Given the description of an element on the screen output the (x, y) to click on. 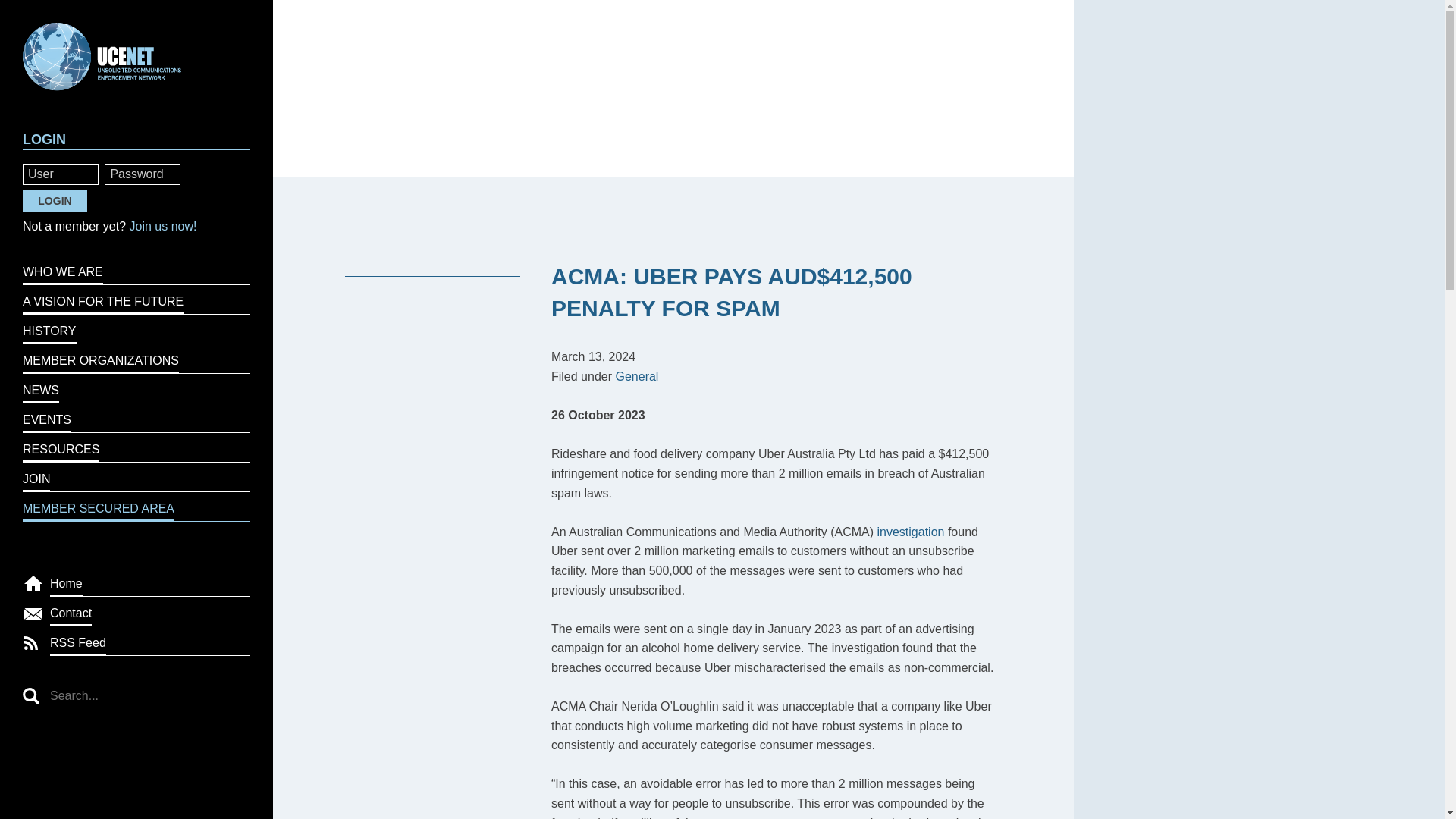
Join us now! (162, 226)
Home (149, 582)
investigation (910, 531)
A VISION FOR THE FUTURE (136, 299)
MEMBER SECURED AREA (136, 506)
EVENTS (136, 418)
Search (31, 695)
Login (55, 200)
HISTORY (136, 328)
Contact (149, 611)
General (636, 376)
MEMBER ORGANIZATIONS (136, 358)
RSS Feed (149, 641)
Search (31, 695)
JOIN (136, 477)
